Given the description of an element on the screen output the (x, y) to click on. 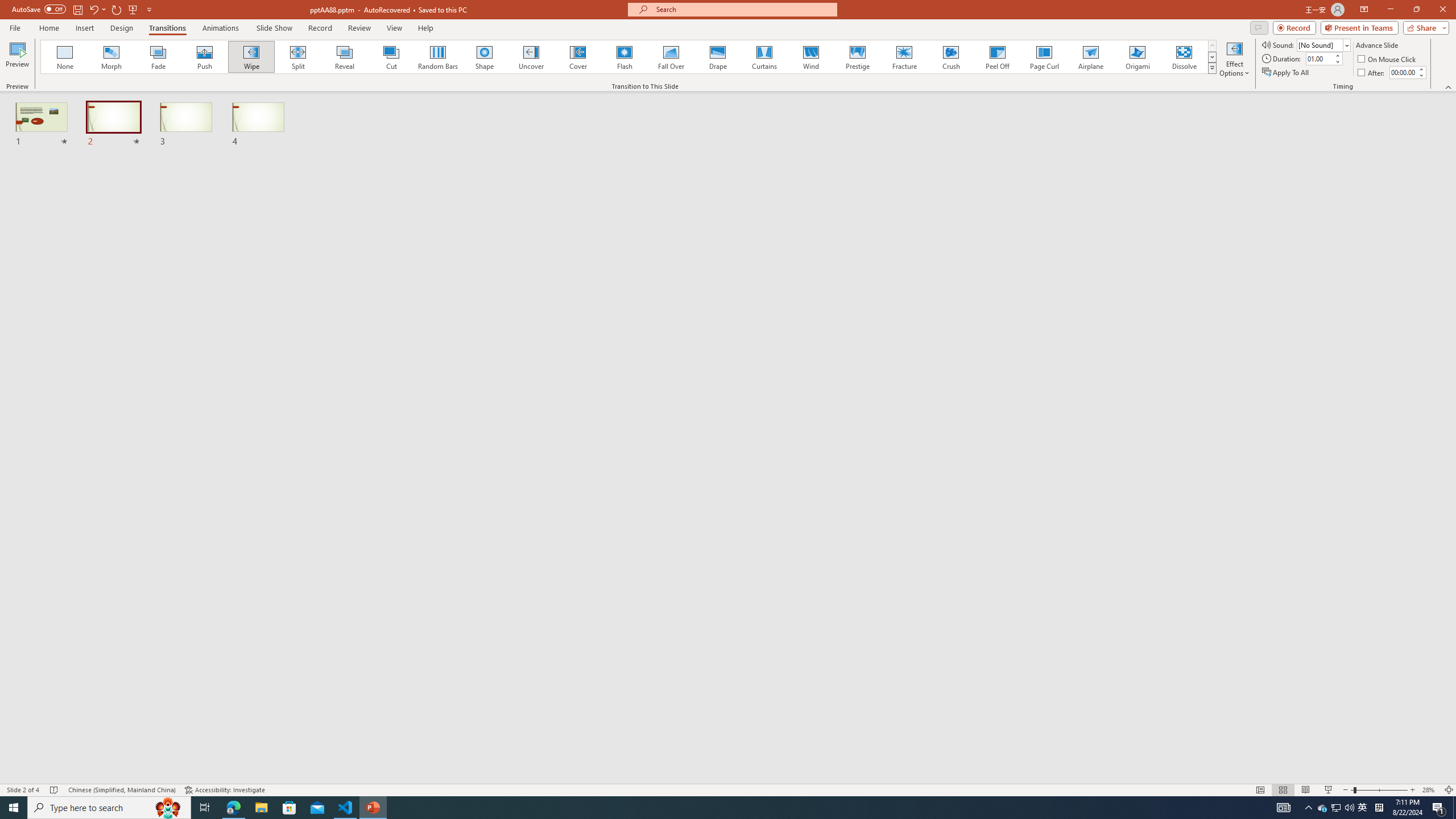
Fall Over (670, 56)
Reveal (344, 56)
